Given the description of an element on the screen output the (x, y) to click on. 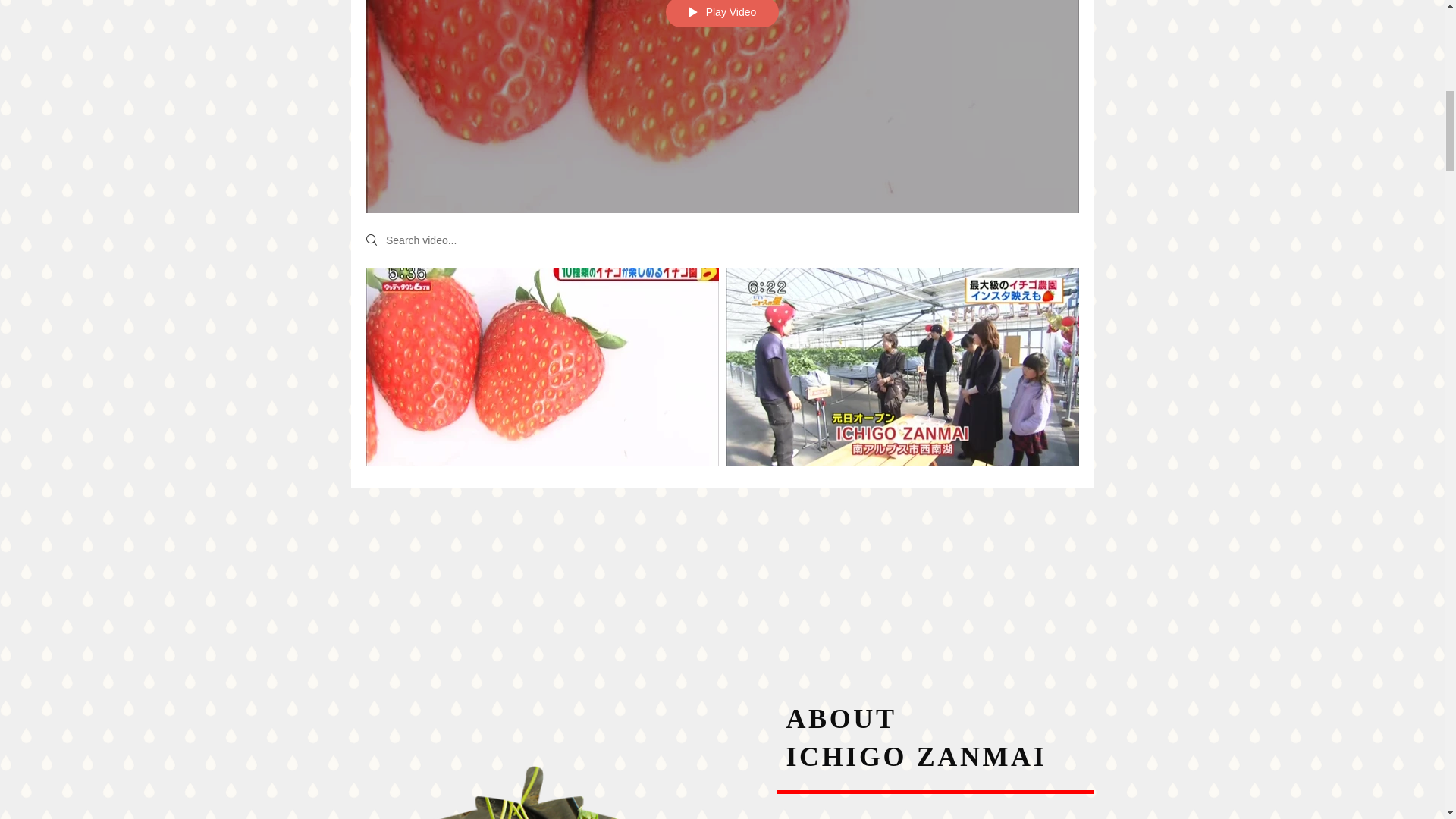
Play Video (721, 13)
